Given the description of an element on the screen output the (x, y) to click on. 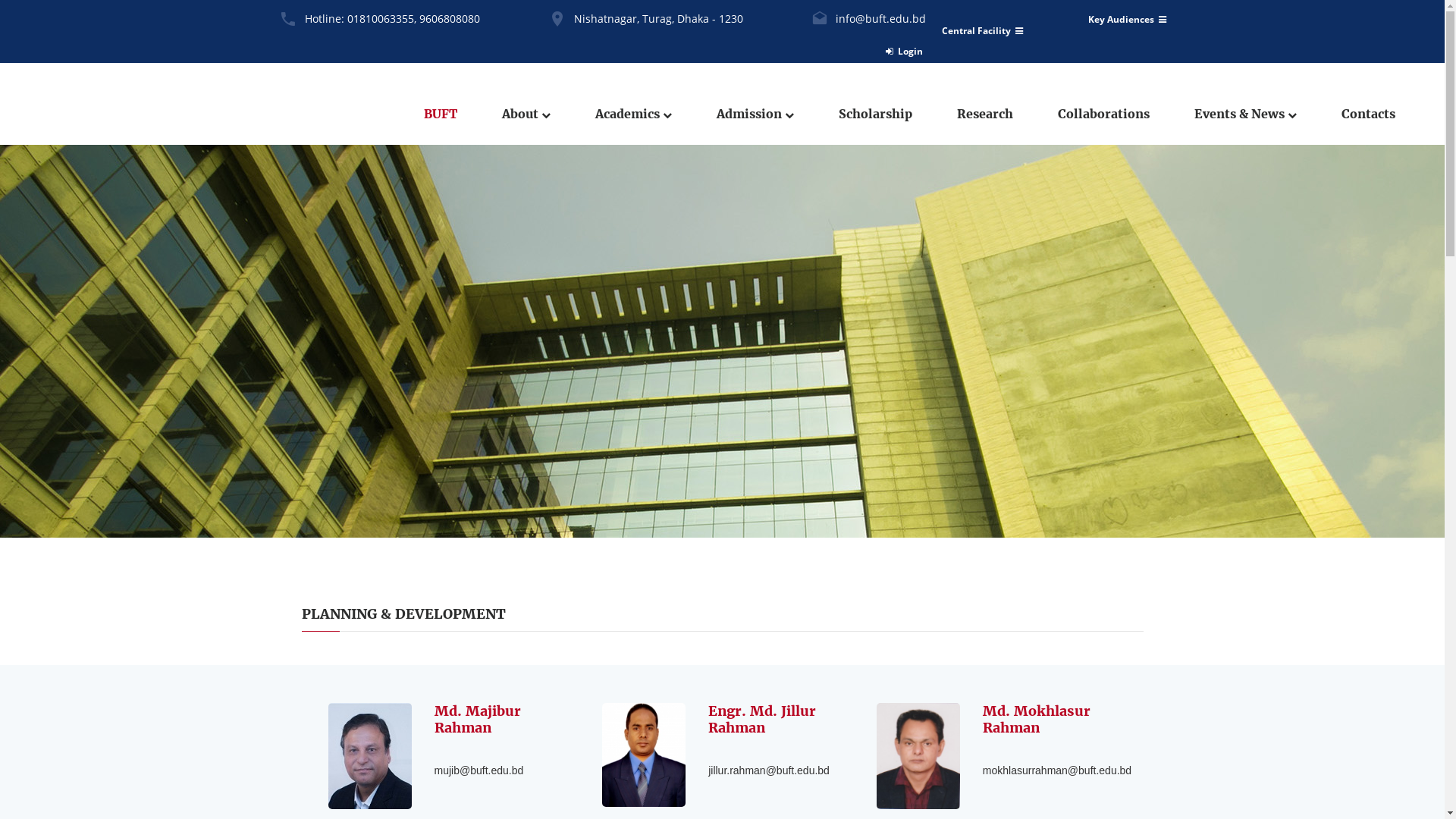
info@buft.edu.bd Element type: text (880, 18)
Key Audiences   Element type: text (1126, 18)
Admission Element type: text (754, 113)
Nishatnagar, Turag, Dhaka - 1230 Element type: text (657, 18)
Hotline: 01810063355, Element type: text (360, 18)
Events & News Element type: text (1245, 113)
Contacts Element type: text (1368, 113)
Collaborations Element type: text (1103, 113)
9606808080 Element type: text (448, 18)
  Login Element type: text (903, 50)
Md. Majibur
Rahman Element type: text (476, 719)
Scholarship Element type: text (875, 113)
Academics Element type: text (633, 113)
mujib@buft.edu.bd Element type: text (478, 770)
Research Element type: text (985, 113)
Md. Mokhlasur
Rahman Element type: text (1036, 719)
BUFT Element type: text (440, 113)
mokhlasurrahman@buft.edu.bd Element type: text (1056, 770)
jillur.rahman@buft.edu.bd Element type: text (768, 770)
Central Facility   Element type: text (981, 30)
About Element type: text (526, 113)
Engr. Md. Jillur Rahman Element type: text (761, 719)
